Given the description of an element on the screen output the (x, y) to click on. 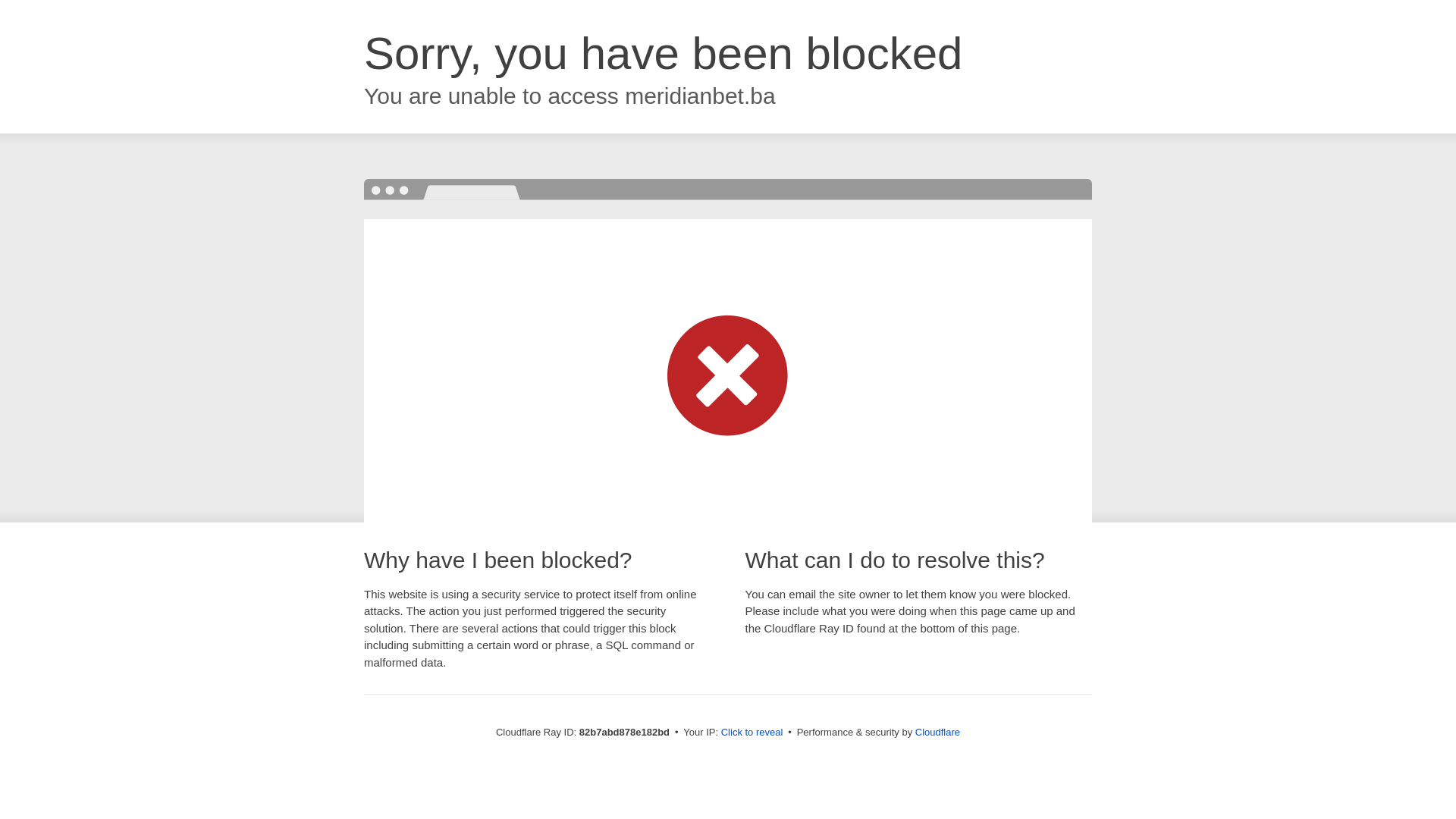
Cloudflare Element type: text (937, 731)
Click to reveal Element type: text (752, 732)
